Given the description of an element on the screen output the (x, y) to click on. 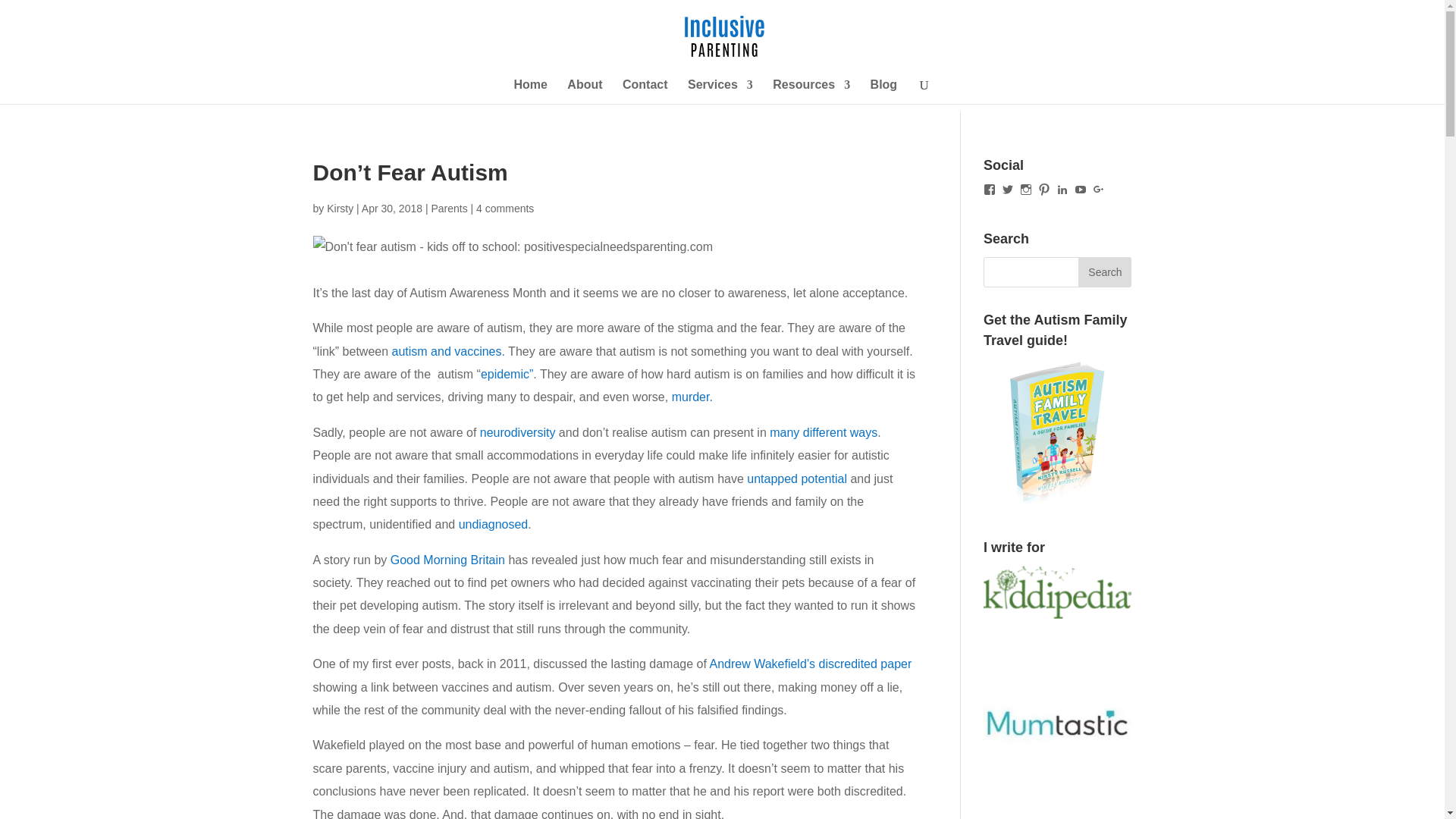
autism and vaccines. (448, 350)
4 comments (505, 208)
undiagnosed (493, 523)
Services (719, 91)
Parents (448, 208)
Resources (811, 91)
neurodiversity (518, 431)
Kirsty (339, 208)
Search (1104, 272)
murder. (692, 396)
